Given the description of an element on the screen output the (x, y) to click on. 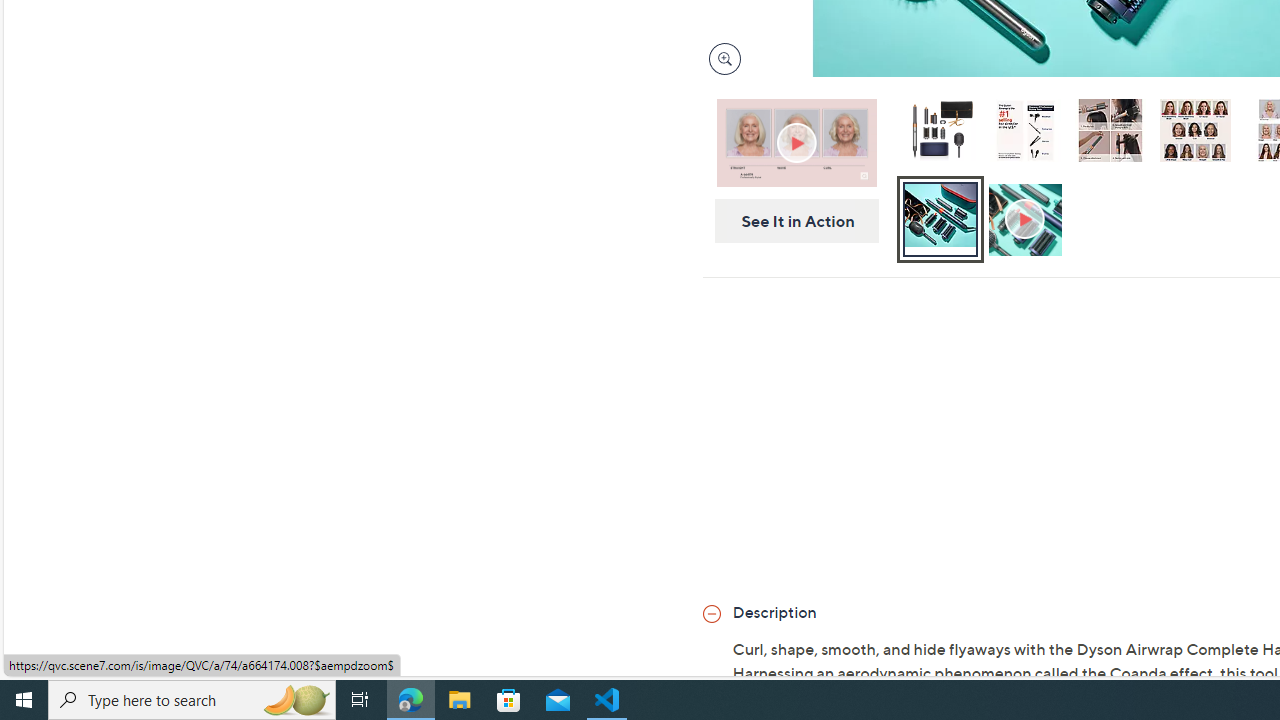
Magnify Image (724, 57)
Dyson Airwrap Complete with Paddle Brush and Travel Pouch (939, 133)
How to Use (1027, 219)
On-Air Presentation (795, 142)
Zoom product image, opens image gallery dialog (719, 59)
Dyson Airwrap Complete with Paddle Brush and Travel Pouch (939, 129)
See It in Action (790, 221)
